Given the description of an element on the screen output the (x, y) to click on. 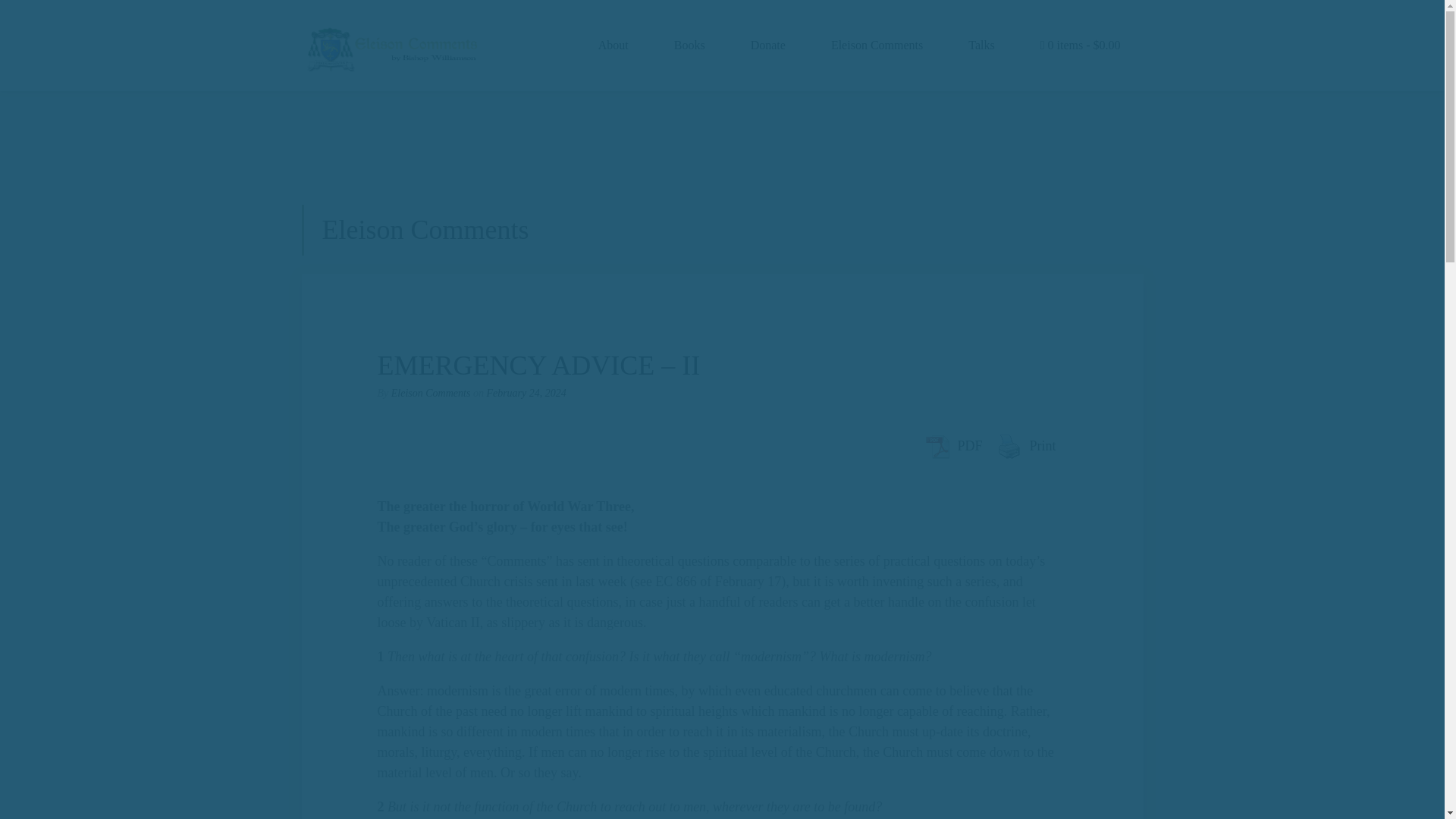
February 24, 2024 (526, 392)
Eleison Comments (876, 45)
Eleison Comments (876, 45)
Eleison Comments (430, 392)
Print (1026, 446)
PDF (953, 446)
